Given the description of an element on the screen output the (x, y) to click on. 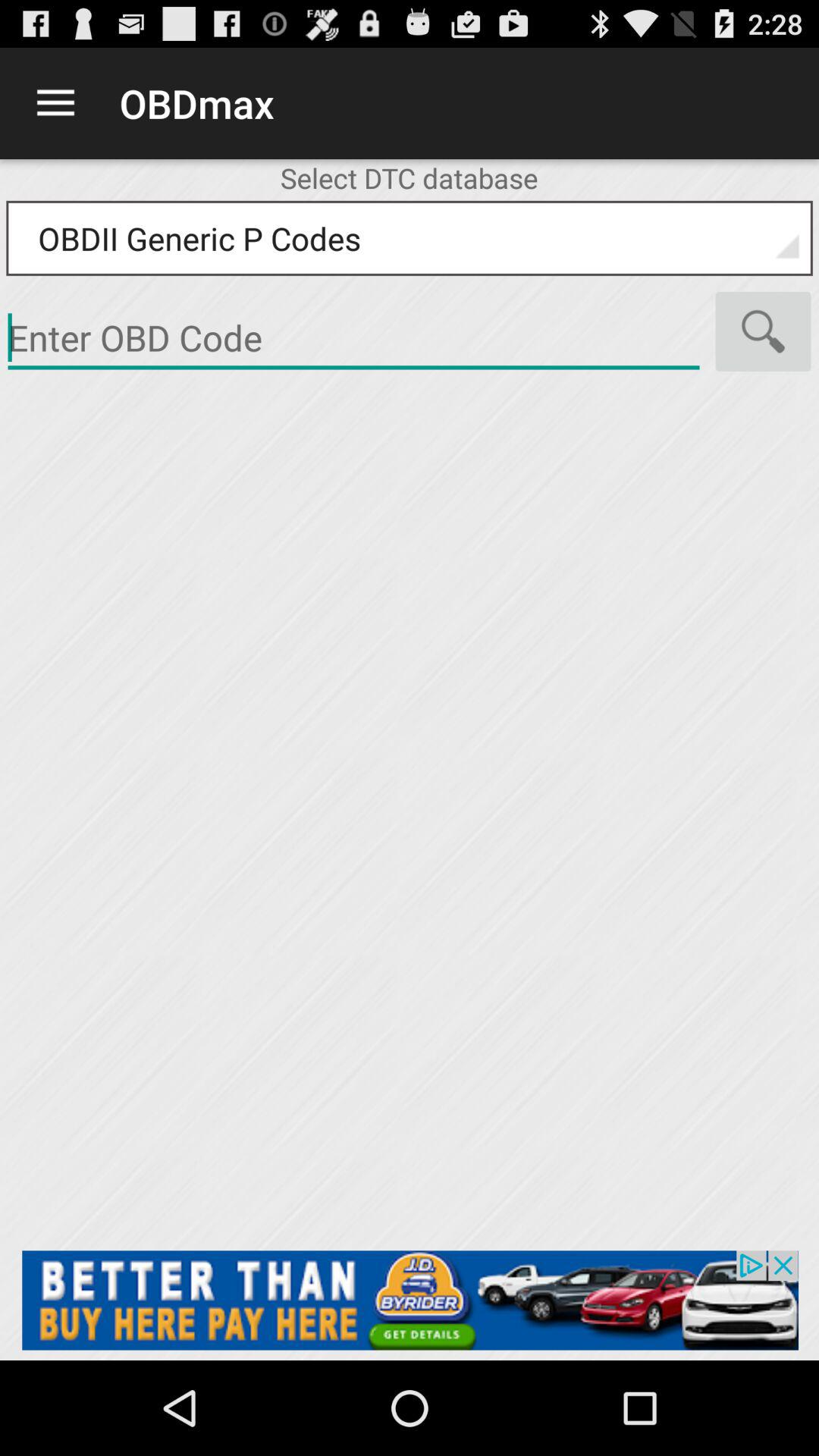
obd (353, 338)
